Given the description of an element on the screen output the (x, y) to click on. 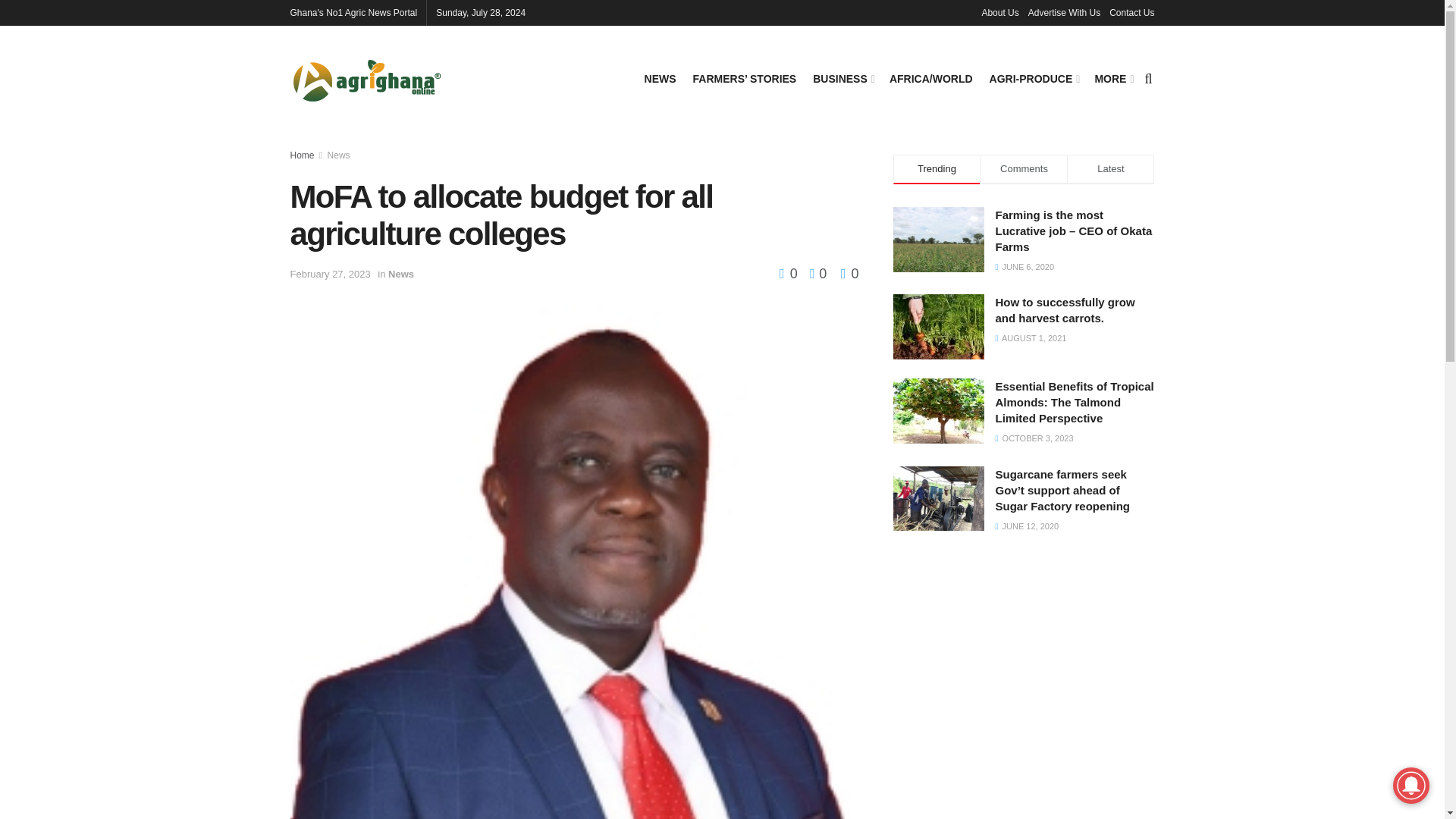
BUSINESS (842, 78)
About Us (999, 12)
AGRI-PRODUCE (1034, 78)
MORE (1112, 78)
Advertise With Us (1063, 12)
Contact Us (1131, 12)
NEWS (661, 78)
